Given the description of an element on the screen output the (x, y) to click on. 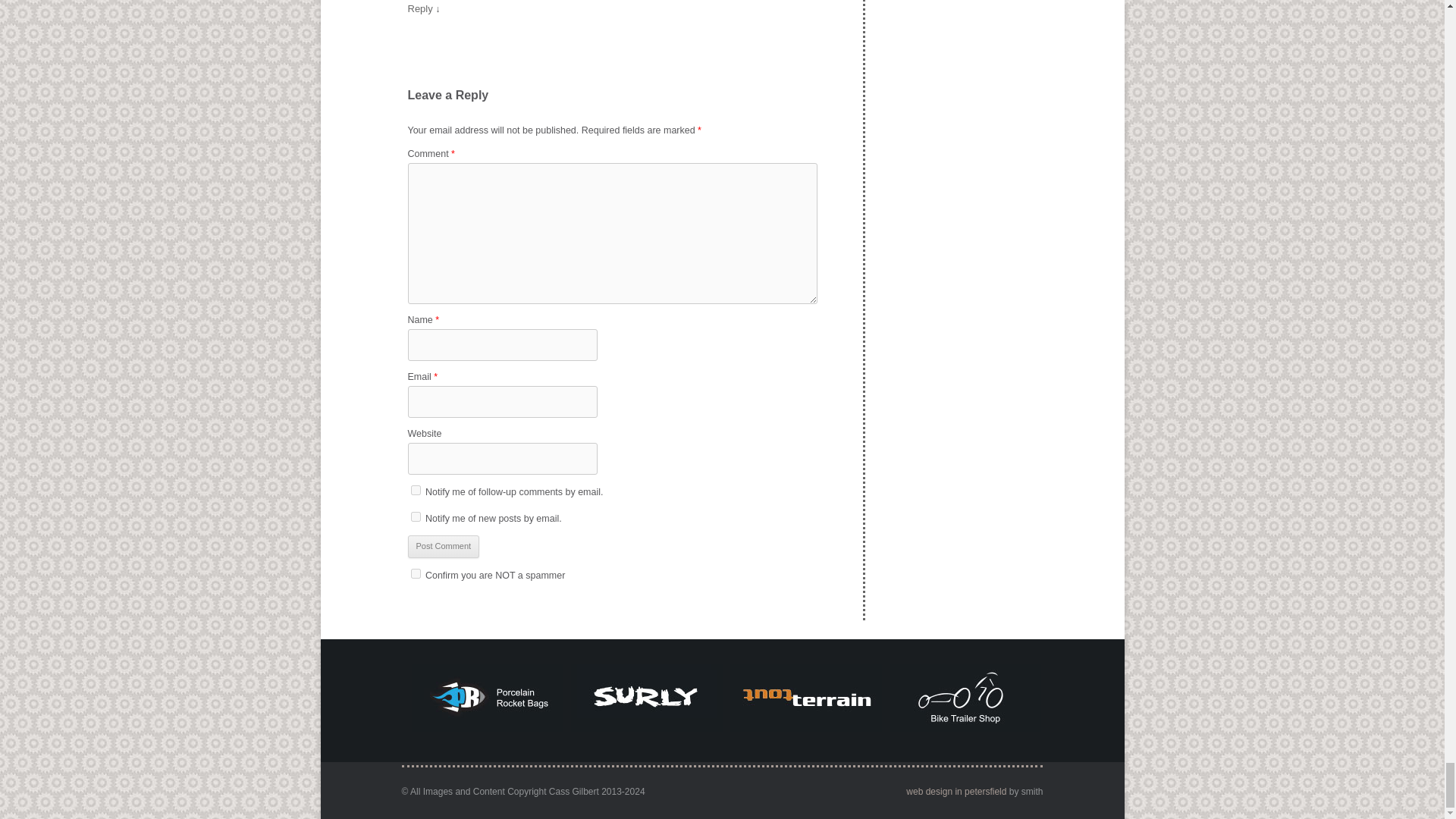
on (415, 573)
subscribe (415, 516)
subscribe (415, 490)
Post Comment (443, 546)
